Given the description of an element on the screen output the (x, y) to click on. 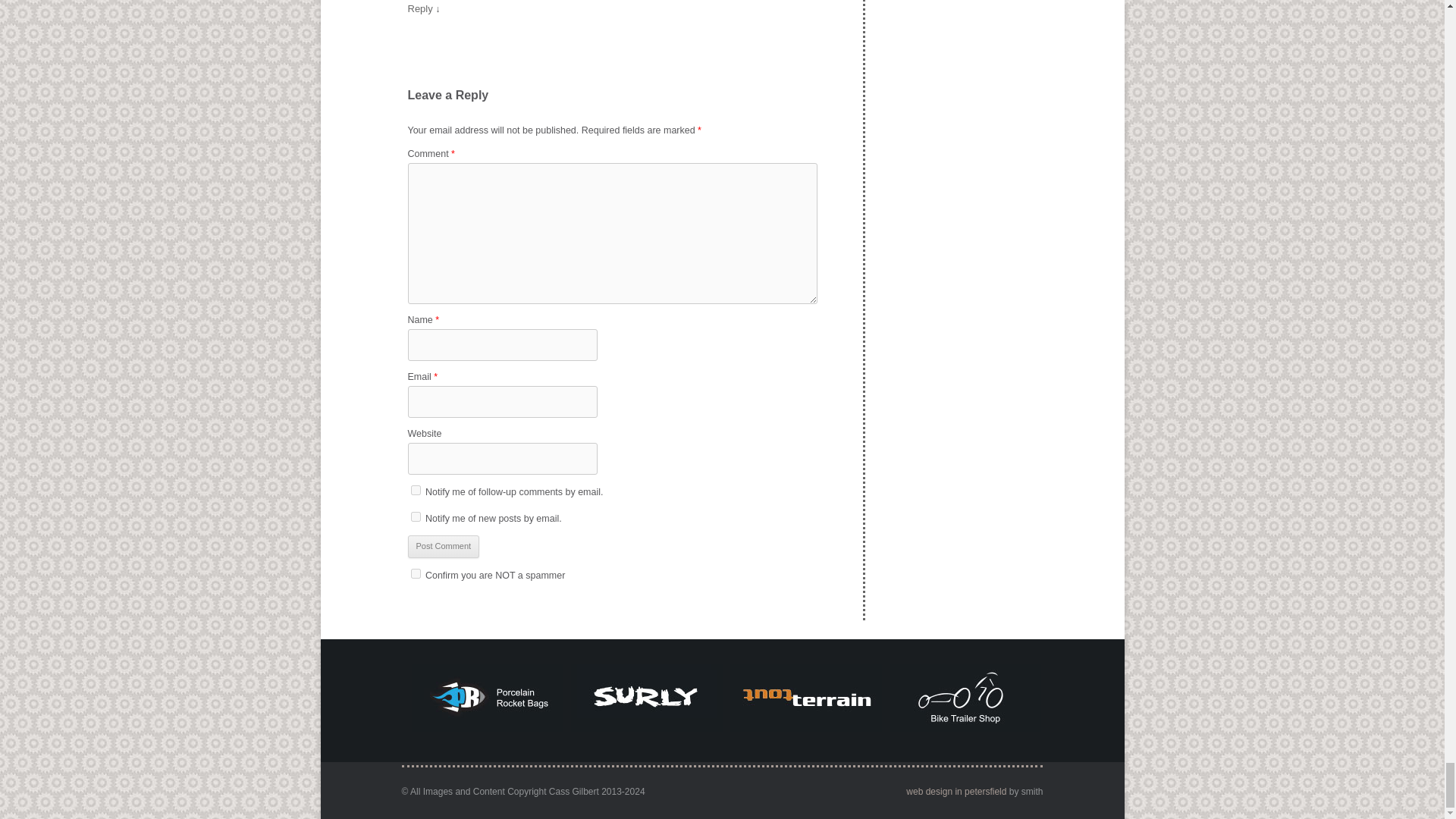
on (415, 573)
subscribe (415, 516)
subscribe (415, 490)
Post Comment (443, 546)
